Given the description of an element on the screen output the (x, y) to click on. 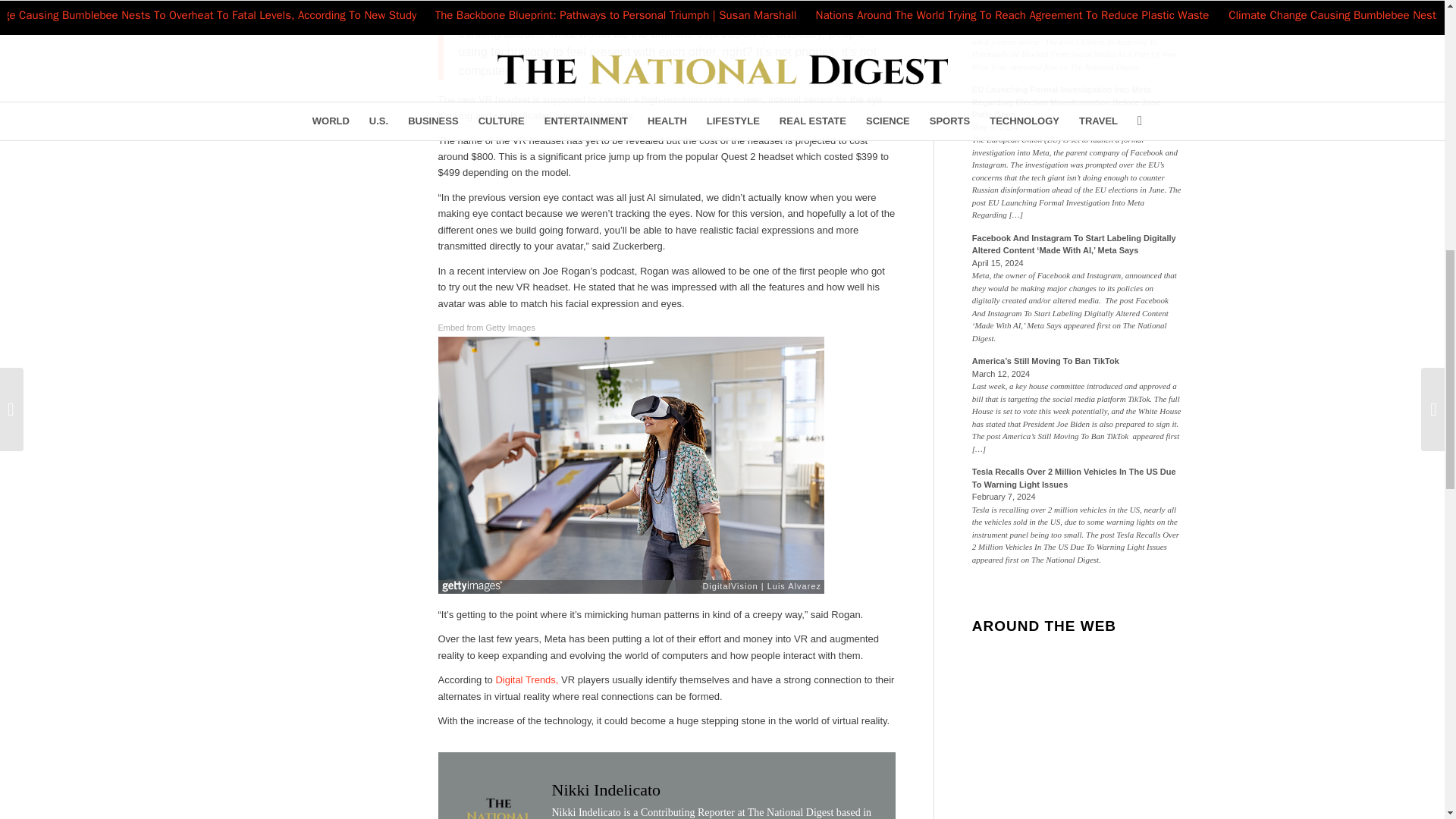
Embed from Getty Images (486, 327)
Nikki Indelicato (606, 789)
Digital Trends, (527, 679)
